Given the description of an element on the screen output the (x, y) to click on. 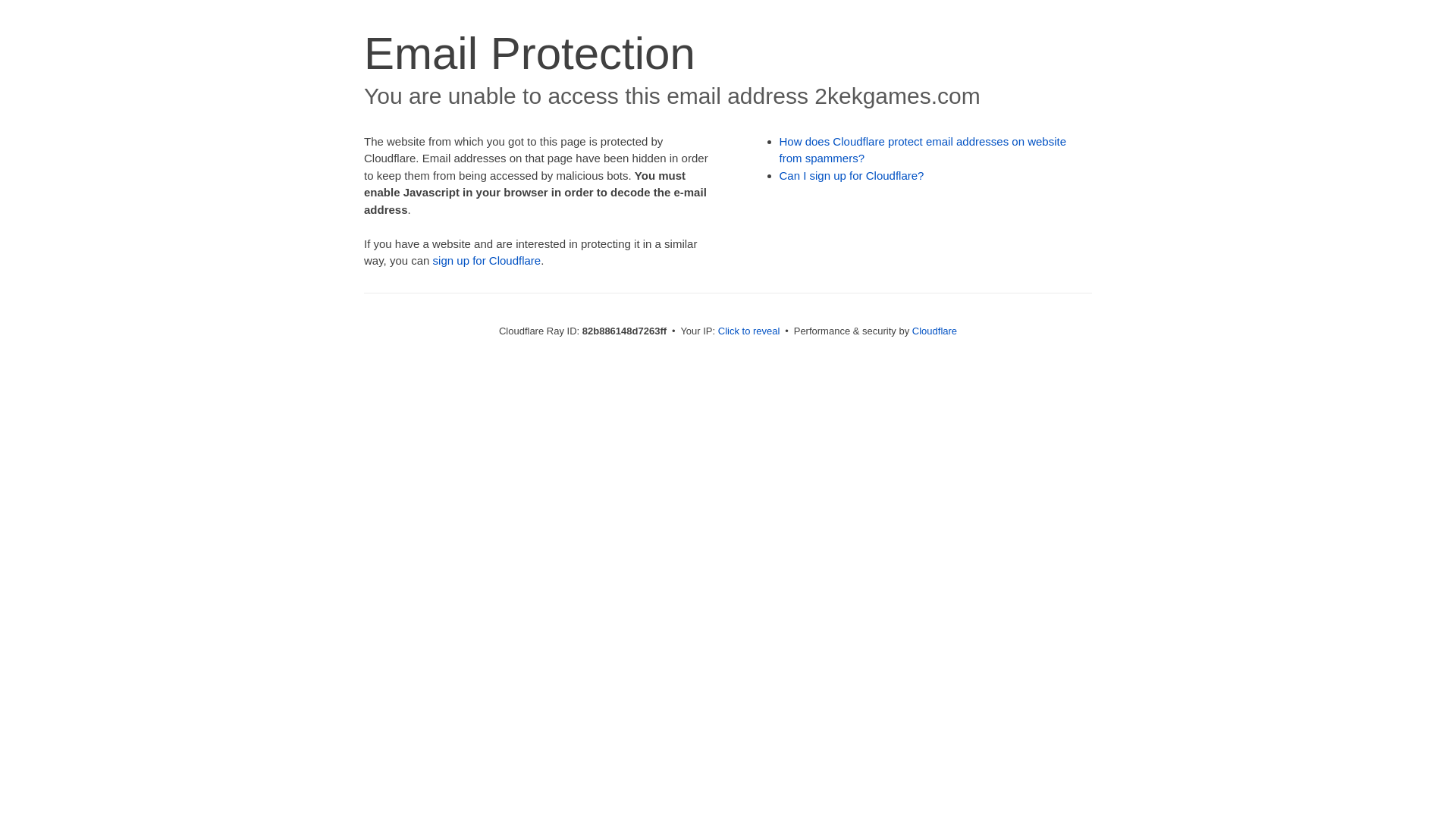
Click to reveal Element type: text (749, 330)
Can I sign up for Cloudflare? Element type: text (851, 175)
sign up for Cloudflare Element type: text (487, 260)
Cloudflare Element type: text (934, 330)
